Given the description of an element on the screen output the (x, y) to click on. 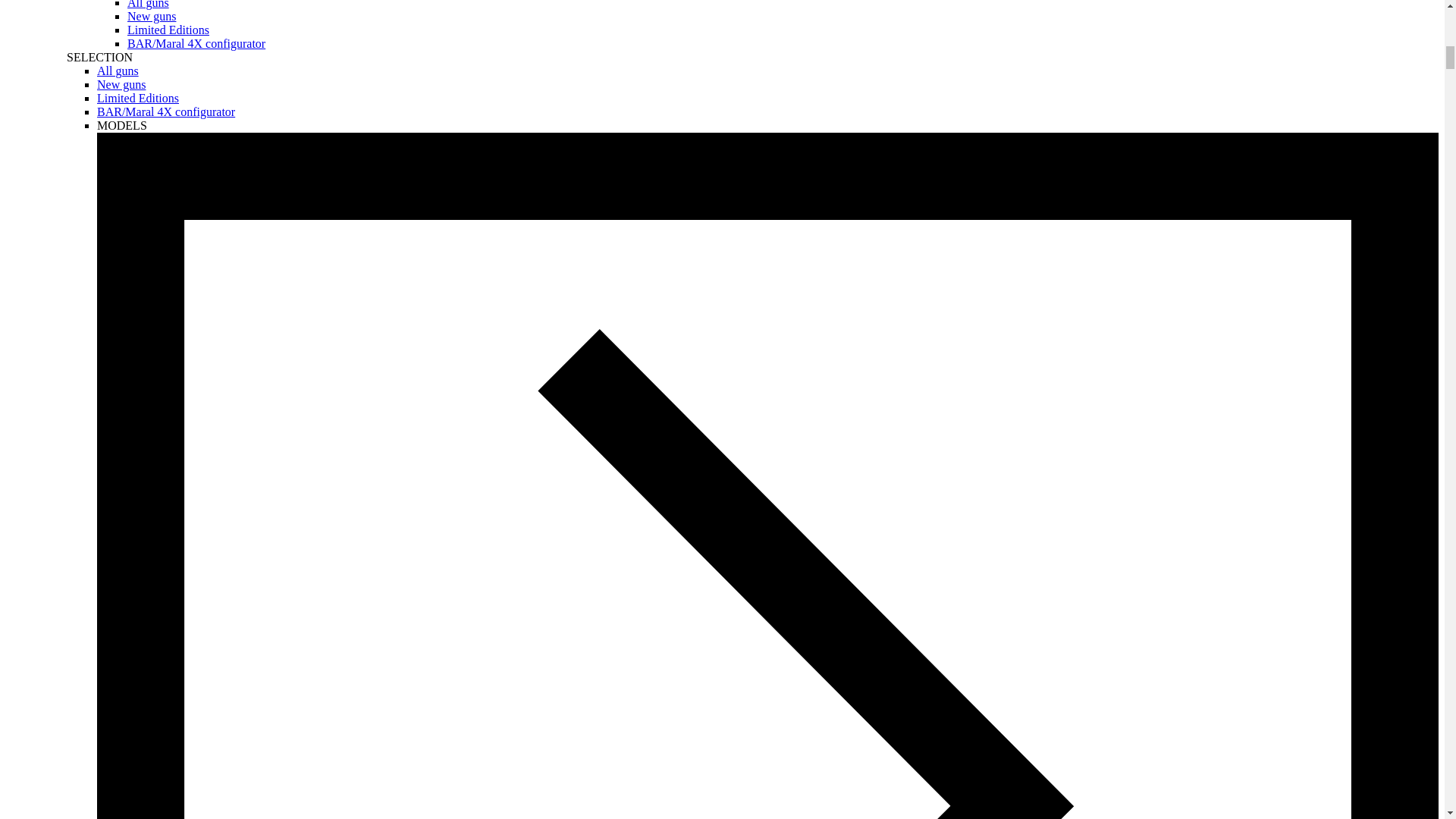
All guns (148, 4)
New guns (152, 15)
New guns (121, 83)
All guns (117, 70)
Limited Editions (168, 29)
Limited Editions (138, 97)
